Given the description of an element on the screen output the (x, y) to click on. 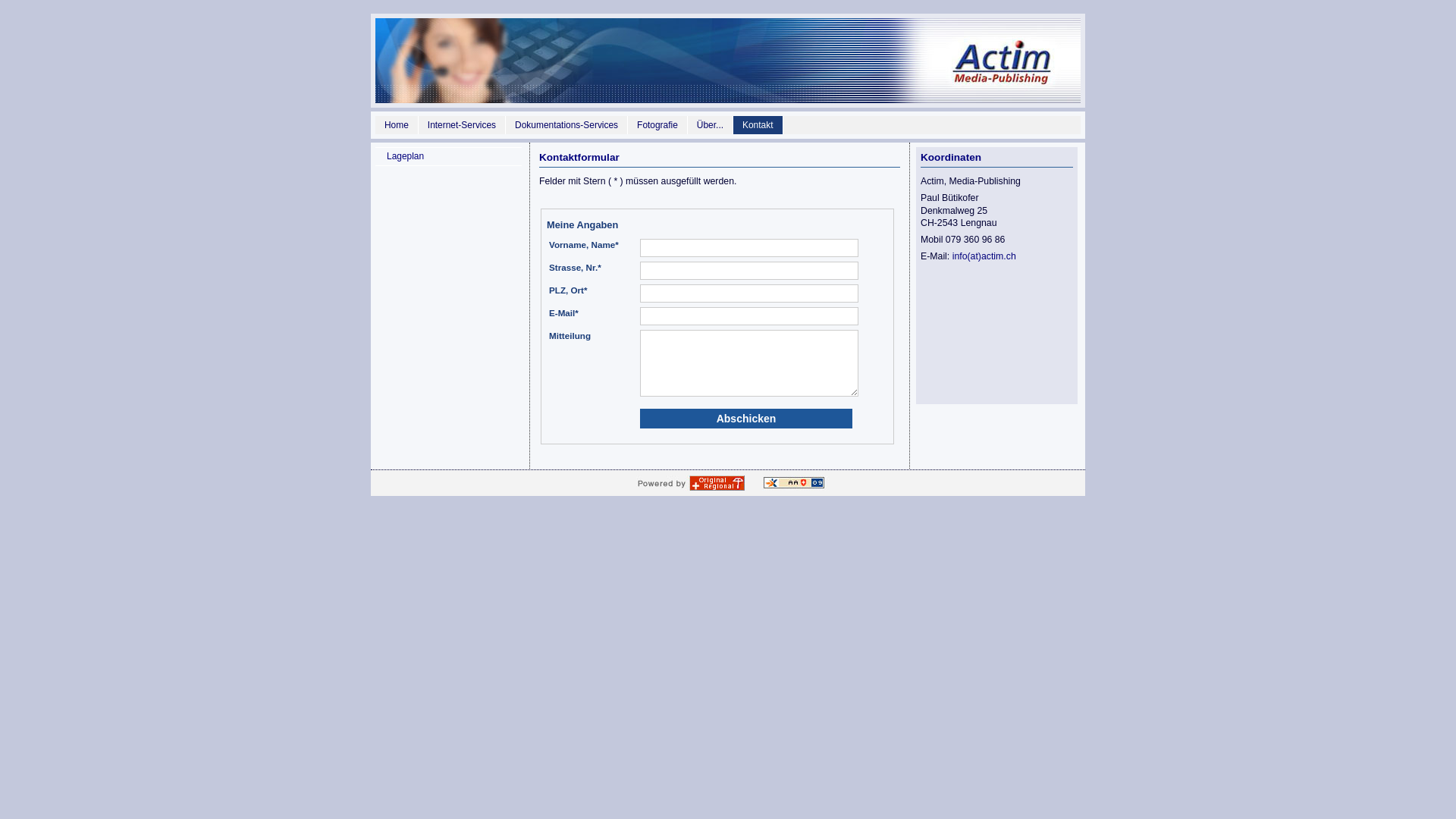
Home Element type: text (396, 125)
Kontakt Element type: text (757, 125)
Dokumentations-Services Element type: text (566, 125)
Lageplan Element type: text (448, 156)
Internet-Services Element type: text (461, 125)
Abschicken Element type: text (746, 418)
Fotografie Element type: text (657, 125)
info(at)actim.ch Element type: text (984, 256)
